Given the description of an element on the screen output the (x, y) to click on. 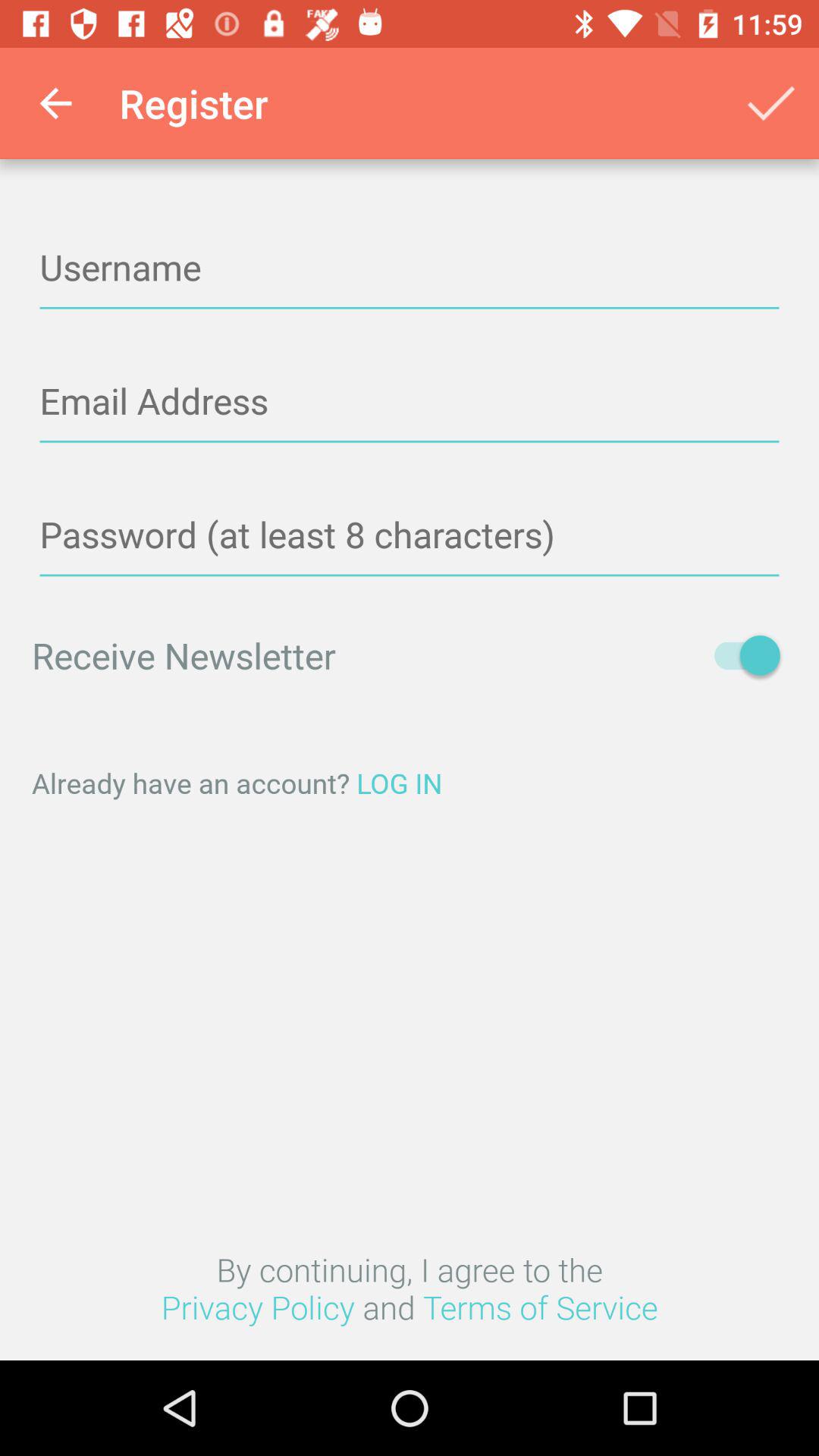
turn on item on the right (739, 655)
